Given the description of an element on the screen output the (x, y) to click on. 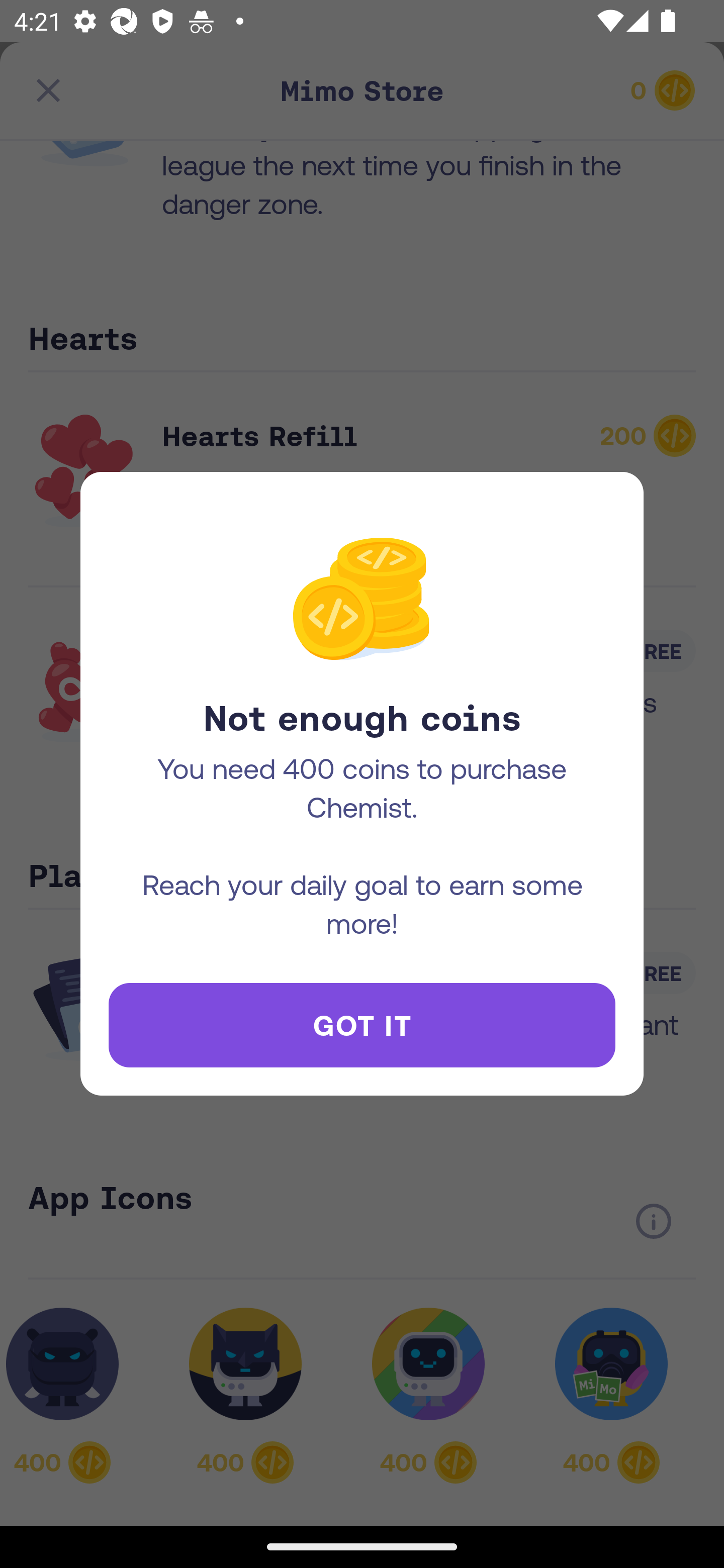
GOT IT (361, 1025)
